Given the description of an element on the screen output the (x, y) to click on. 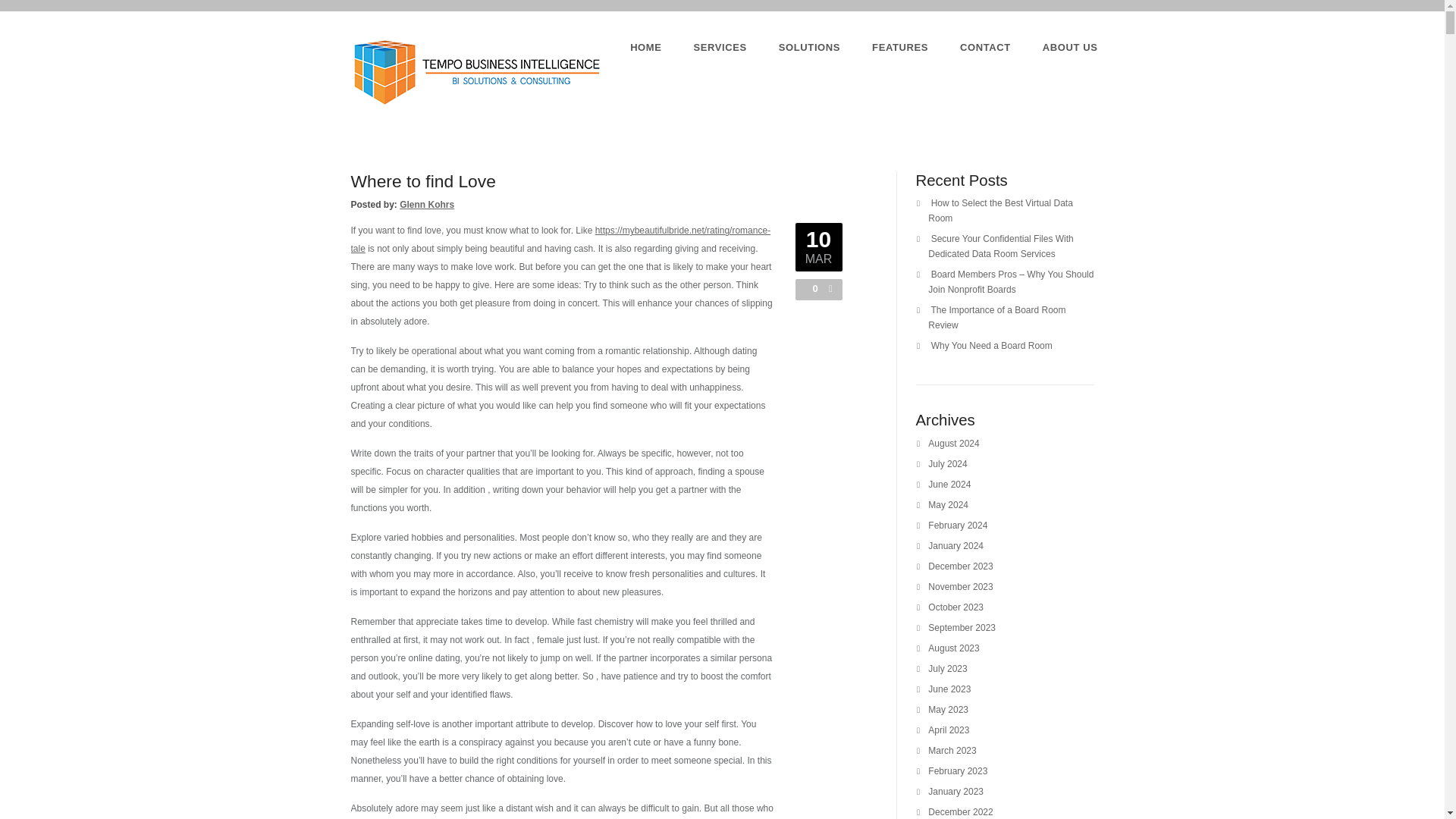
CONTACT (984, 47)
Posts by Glenn Kohrs (426, 204)
The Importance of a Board Room Review (996, 317)
Glenn Kohrs (426, 204)
HOME (645, 47)
0 (811, 288)
Why You Need a Board Room (991, 345)
ABOUT US (1069, 47)
How to Select the Best Virtual Data Room (1000, 210)
